Given the description of an element on the screen output the (x, y) to click on. 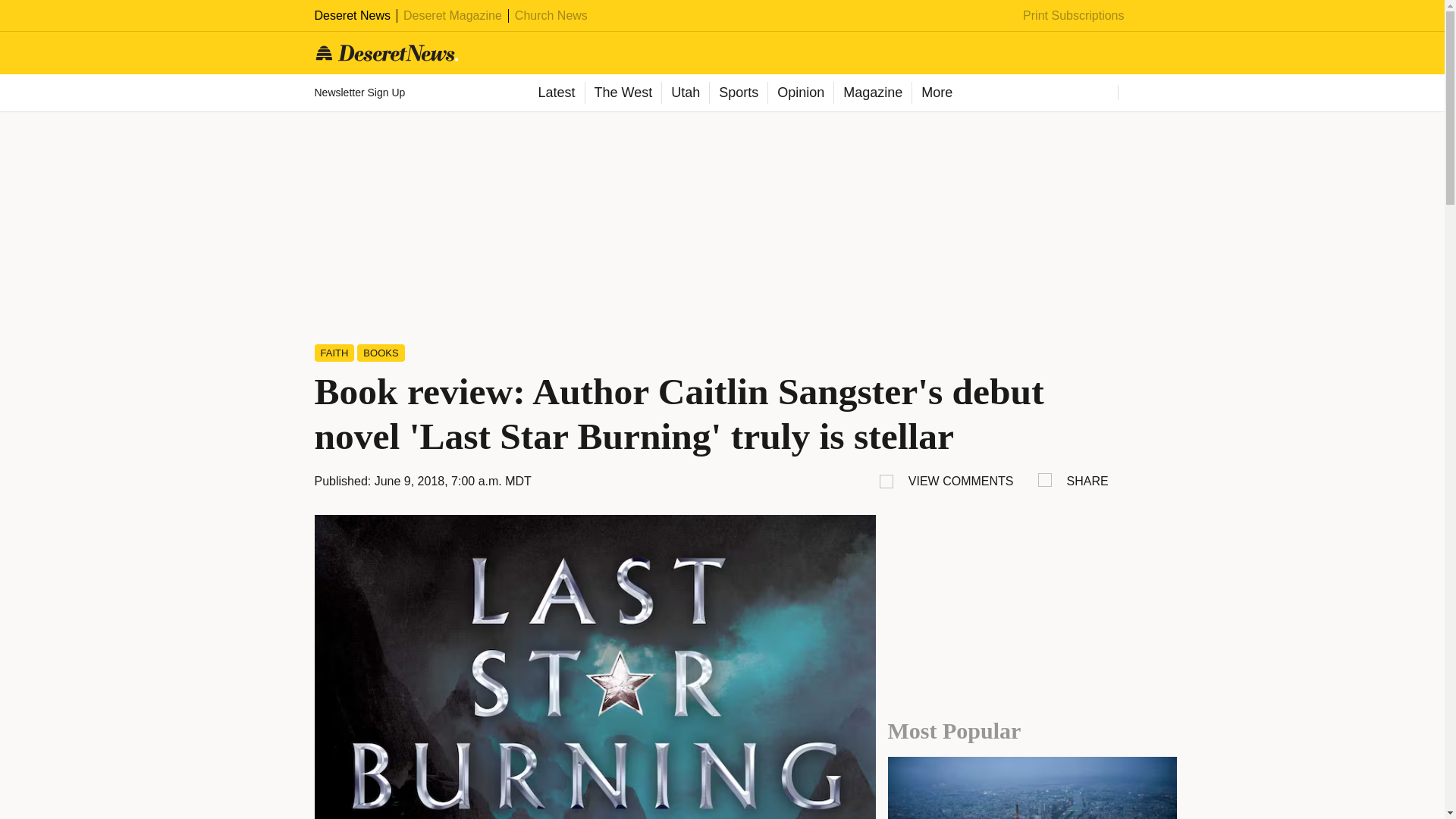
FAITH (333, 352)
Newsletter Sign Up (361, 92)
Magazine (871, 92)
Print Subscriptions (1073, 15)
Sports (738, 92)
Opinion (799, 92)
The West (622, 92)
Church News (551, 15)
Utah (685, 92)
Deseret Magazine (452, 15)
BOOKS (380, 352)
Deseret News (352, 15)
Latest (555, 92)
